Given the description of an element on the screen output the (x, y) to click on. 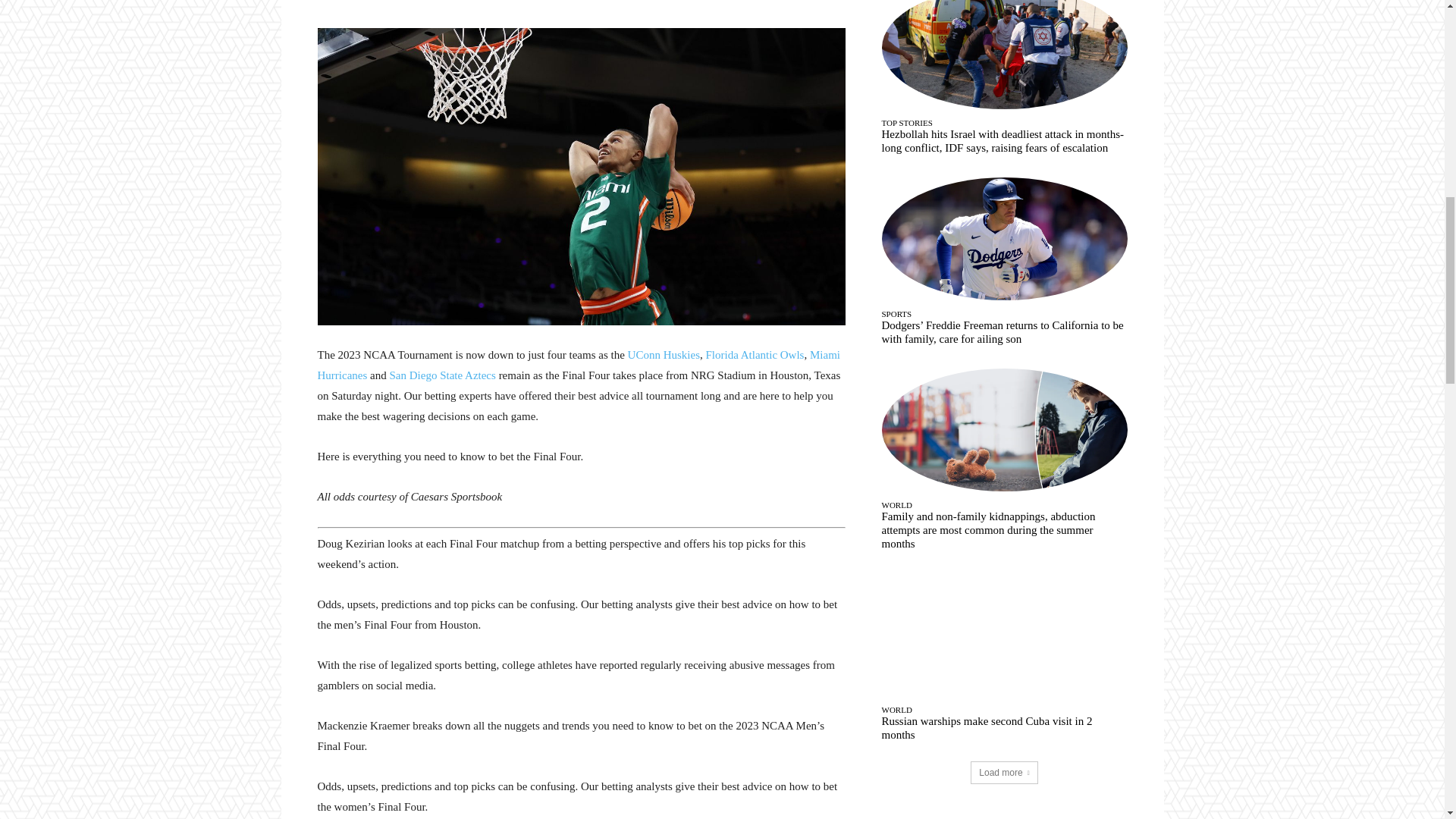
UConn Huskies (663, 354)
Florida Atlantic Owls (753, 354)
